Given the description of an element on the screen output the (x, y) to click on. 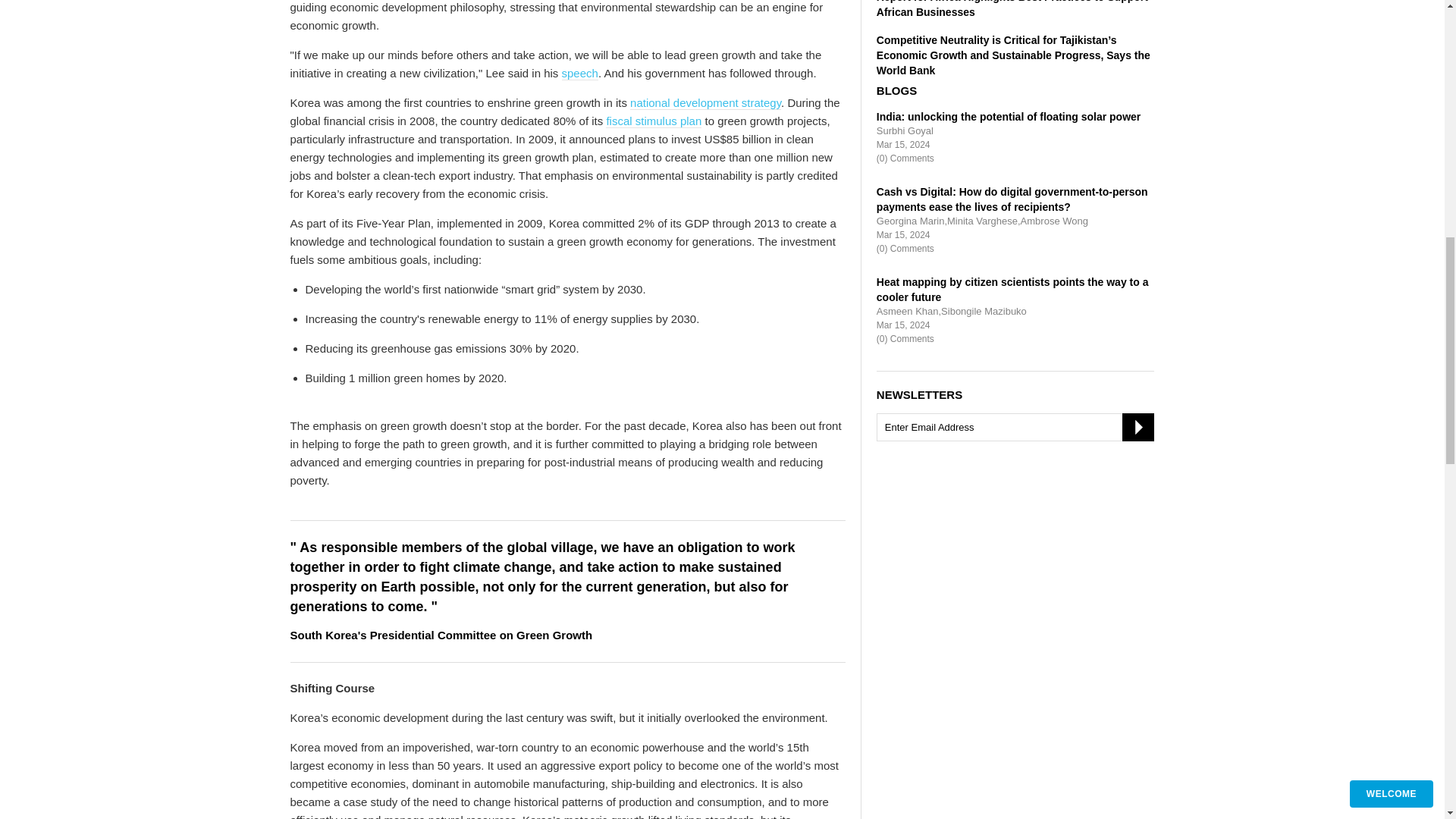
Enter Email Address (1015, 427)
Enter Email Address (1015, 427)
